Given the description of an element on the screen output the (x, y) to click on. 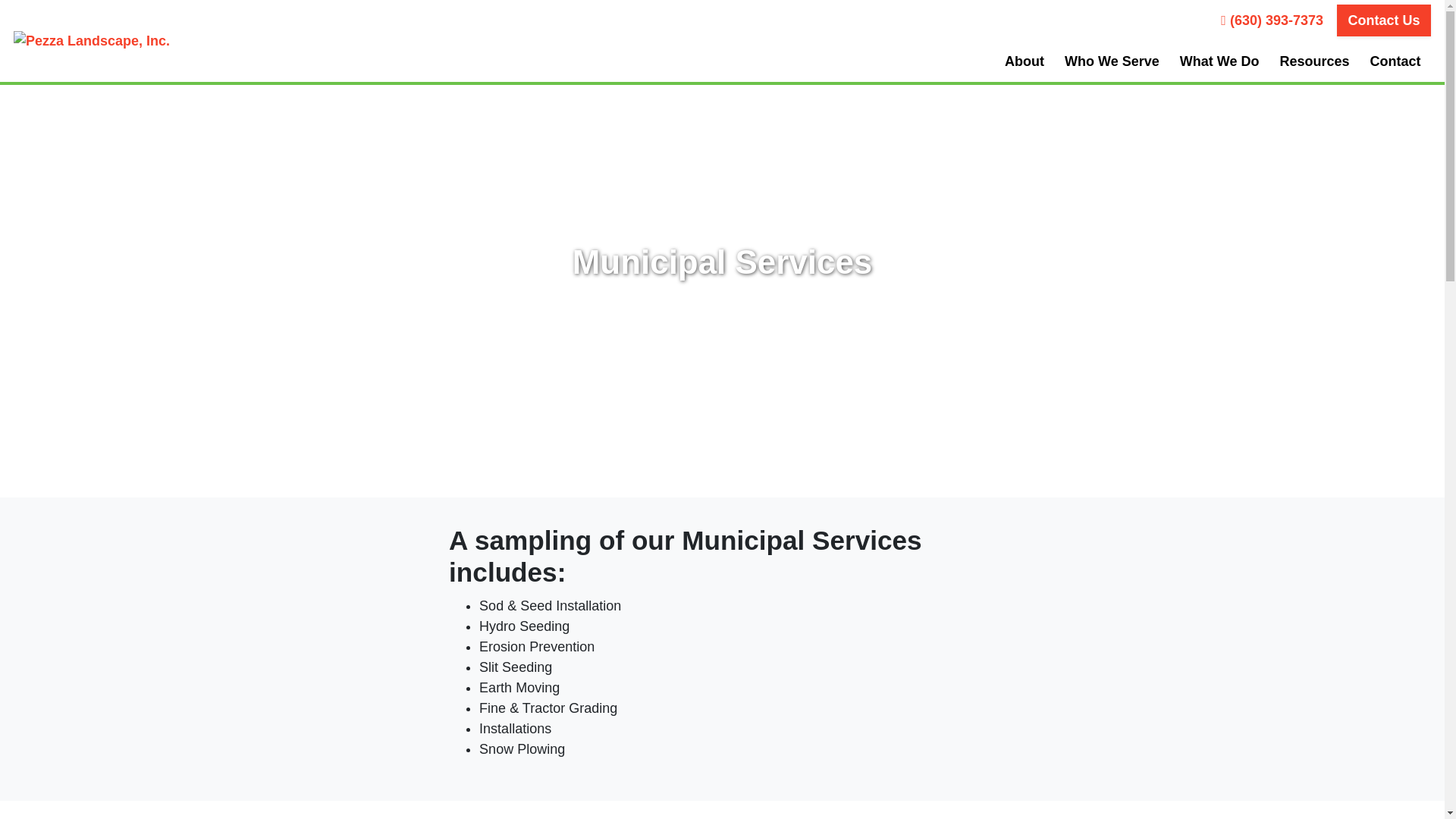
What We Do (1219, 60)
Who We Serve (1112, 60)
Contact Us (1383, 20)
About (1024, 60)
Resources (1314, 60)
